Given the description of an element on the screen output the (x, y) to click on. 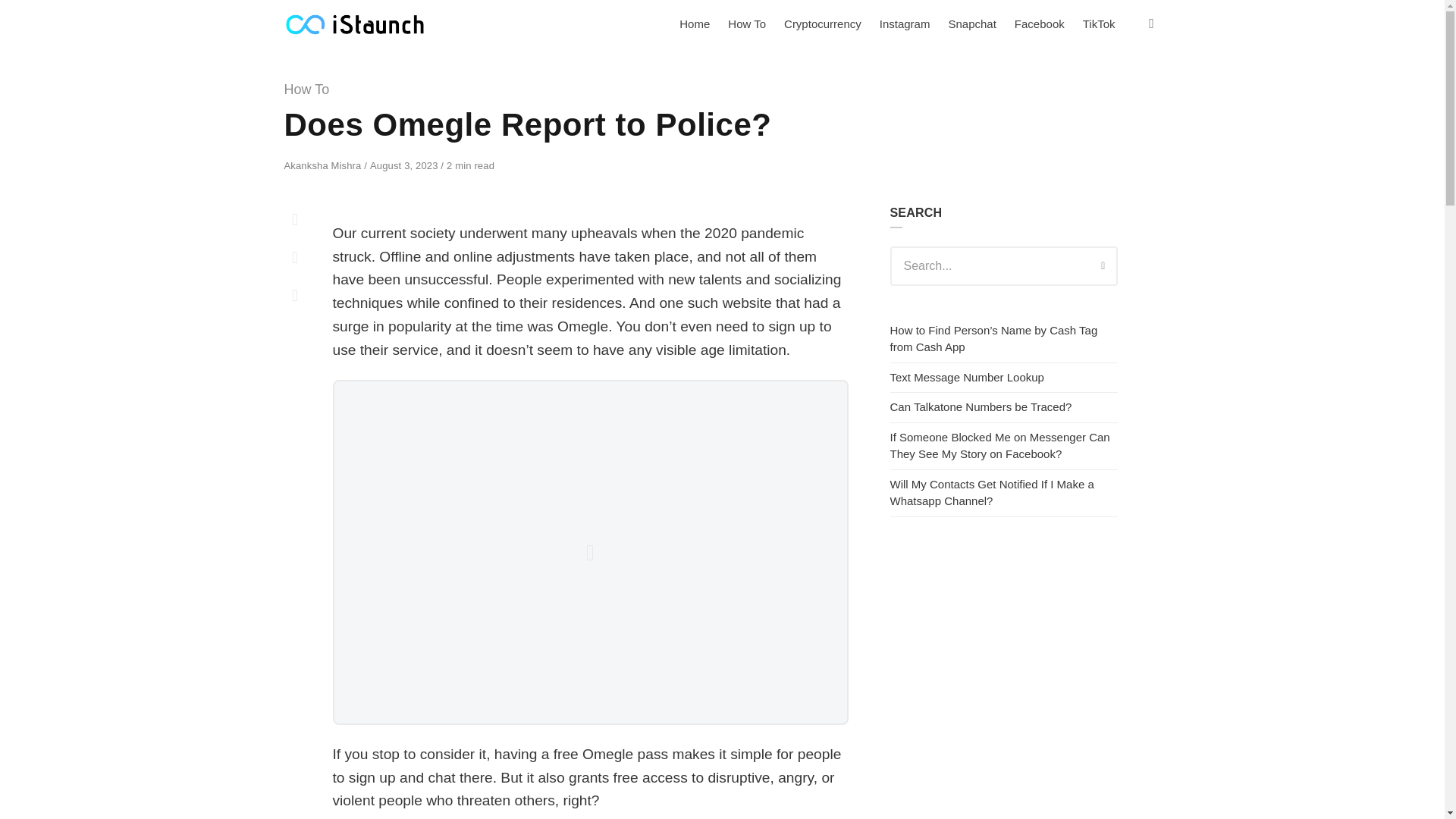
August 3, 2023 (405, 165)
Akanksha Mishra (323, 165)
Can Talkatone Numbers be Traced? (980, 406)
Instagram (904, 24)
Cryptocurrency (822, 24)
TikTok (1099, 24)
Text Message Number Lookup (966, 377)
Snapchat (971, 24)
Home (694, 24)
Facebook (1040, 24)
August 3, 2023 (405, 165)
How To (746, 24)
Will My Contacts Get Notified If I Make a Whatsapp Channel? (991, 492)
How To (306, 89)
